Given the description of an element on the screen output the (x, y) to click on. 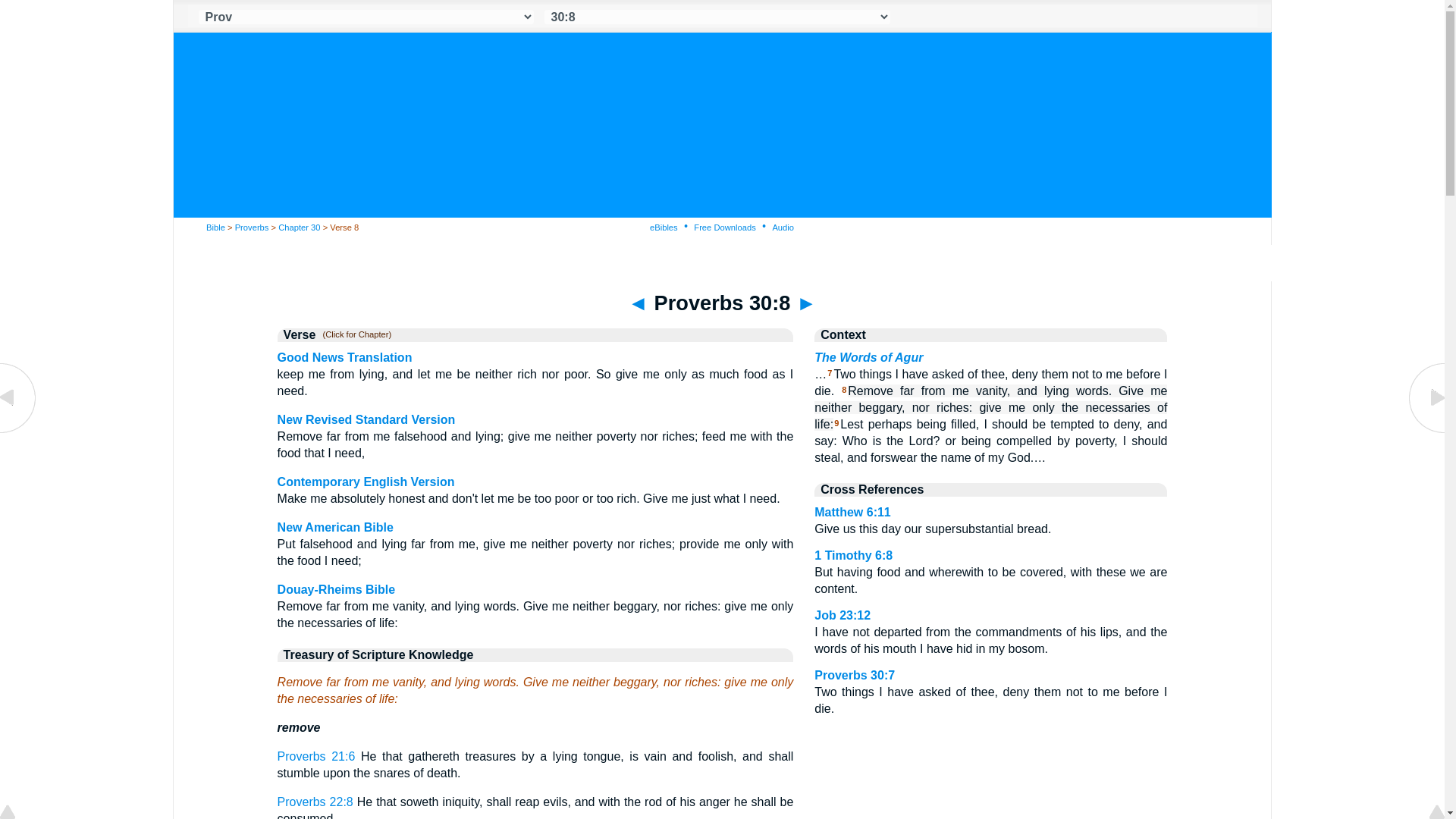
Proverbs 30:7 (18, 431)
Matthew 6:11 (851, 512)
New American Bible (335, 526)
Top of Page (18, 813)
Proverbs 30:7 (854, 675)
Proverbs 22:8 (315, 801)
Click any translation name for full chapter (353, 335)
Douay-Rheims Bible (337, 589)
New Revised Standard Version (366, 419)
Chapter 30 (299, 226)
Proverbs (251, 226)
The Words of Agur (868, 357)
Bible (215, 226)
Contemporary English Version (366, 481)
1 Timothy 6:8 (852, 554)
